Given the description of an element on the screen output the (x, y) to click on. 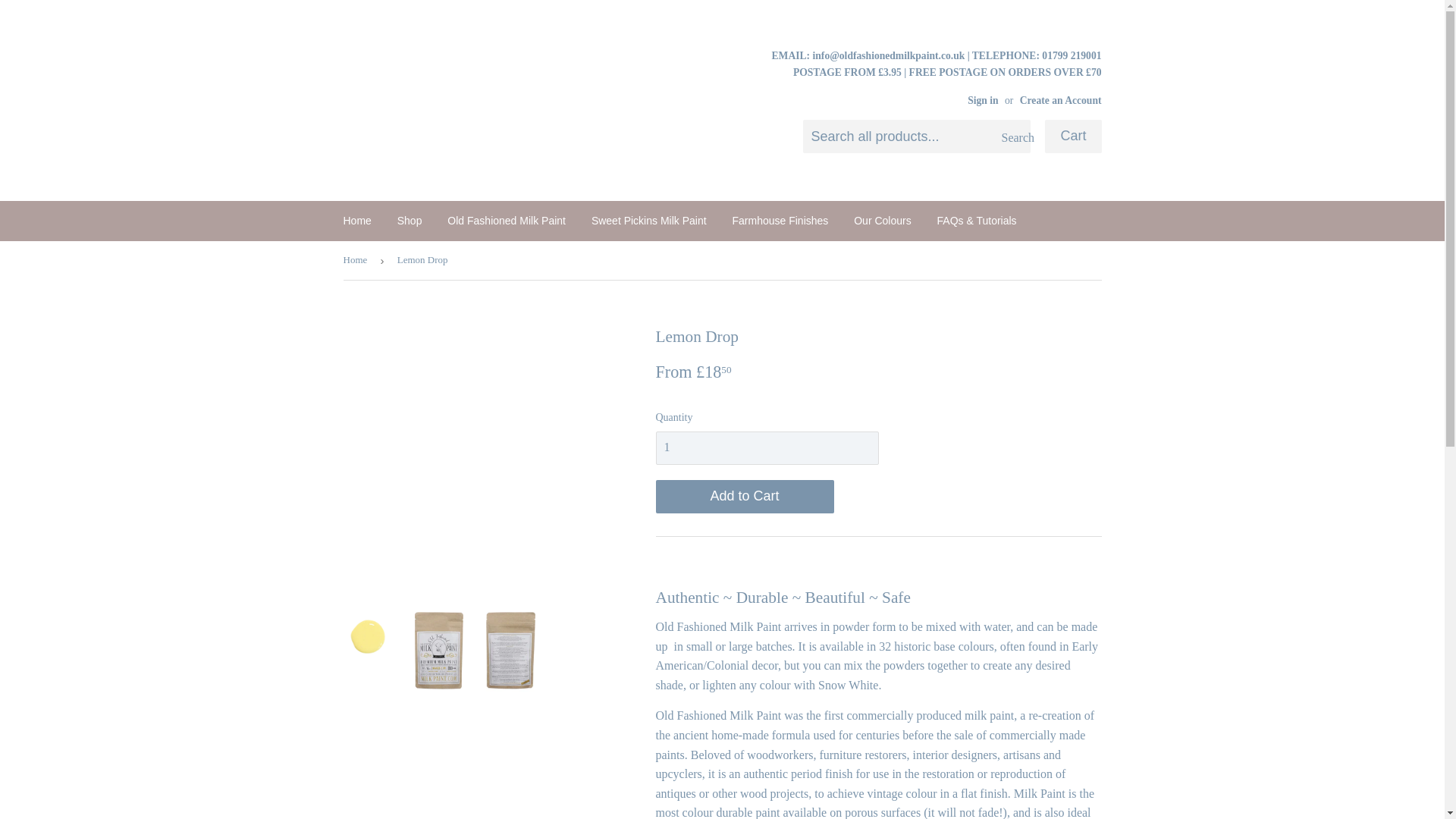
Create an Account (1061, 100)
Sign in (982, 100)
Search (1012, 137)
Home (356, 220)
1 (766, 447)
Cart (1072, 136)
